Given the description of an element on the screen output the (x, y) to click on. 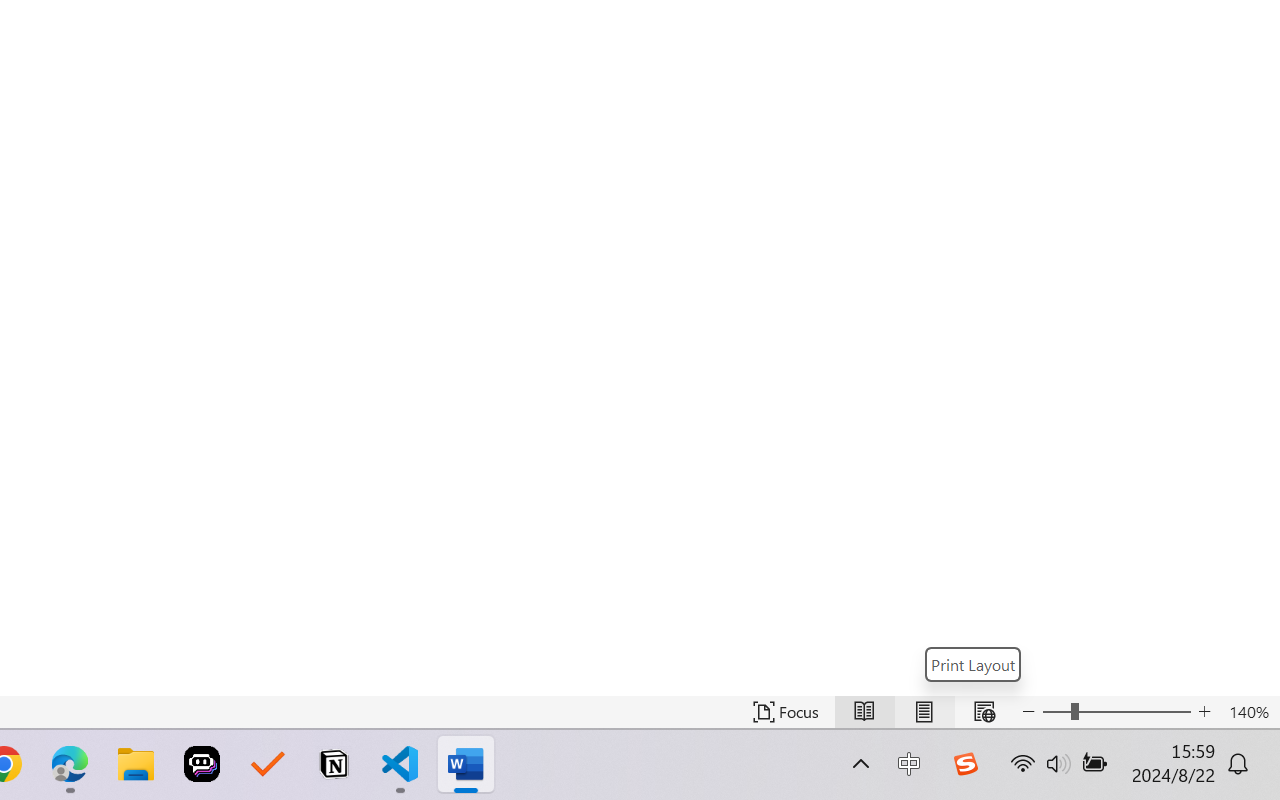
Print Layout (924, 712)
Web Layout (984, 712)
Print Layout (973, 664)
Read Mode (864, 712)
Zoom In (1135, 712)
Increase Text Size (1204, 712)
Decrease Text Size (1028, 712)
Zoom Out (1056, 712)
Text Size (1116, 712)
Focus  (786, 712)
Class: Image (965, 764)
